Given the description of an element on the screen output the (x, y) to click on. 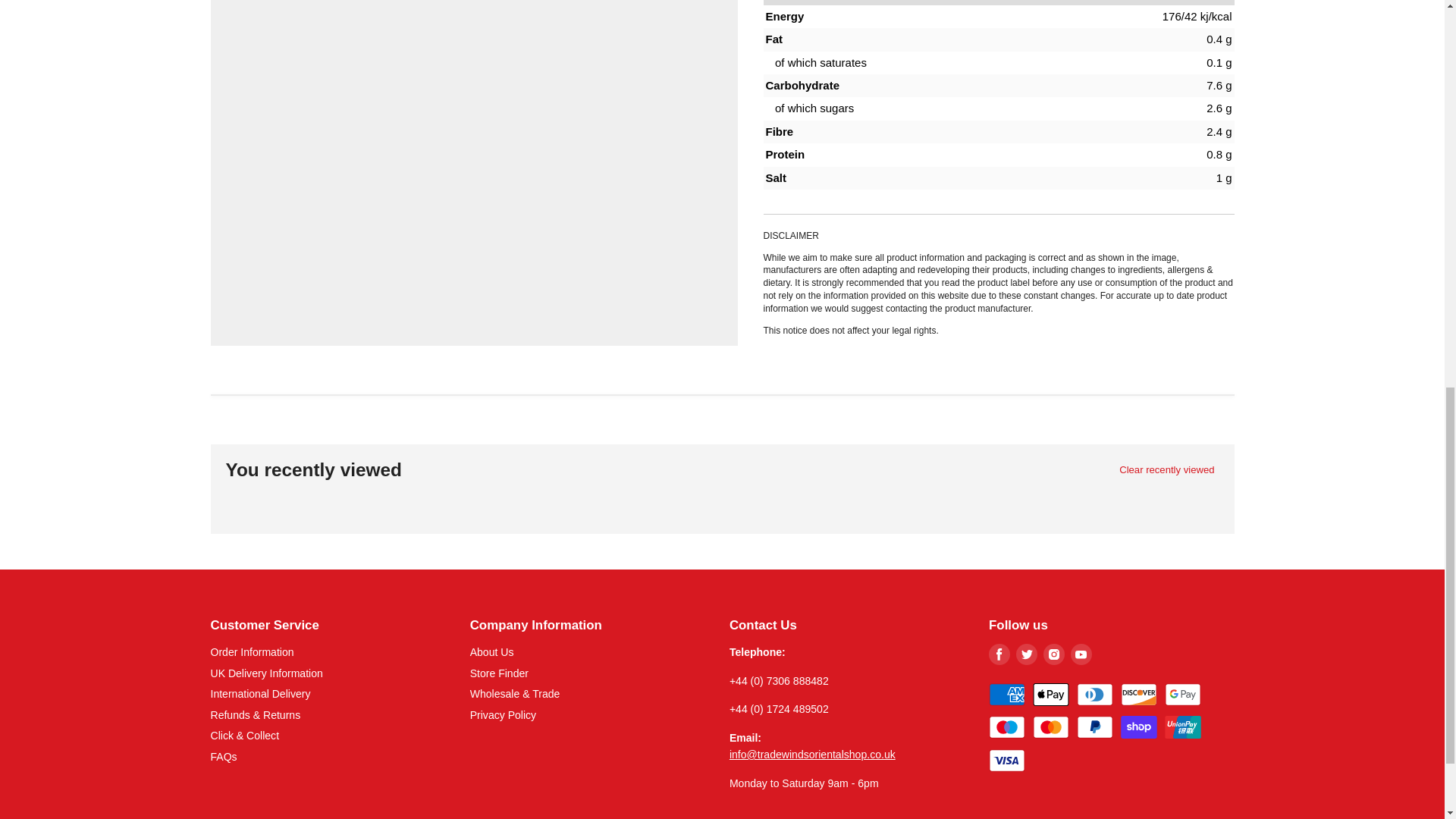
Twitter (1026, 654)
Youtube (1081, 654)
Instagram (1053, 654)
Facebook (999, 654)
